Given the description of an element on the screen output the (x, y) to click on. 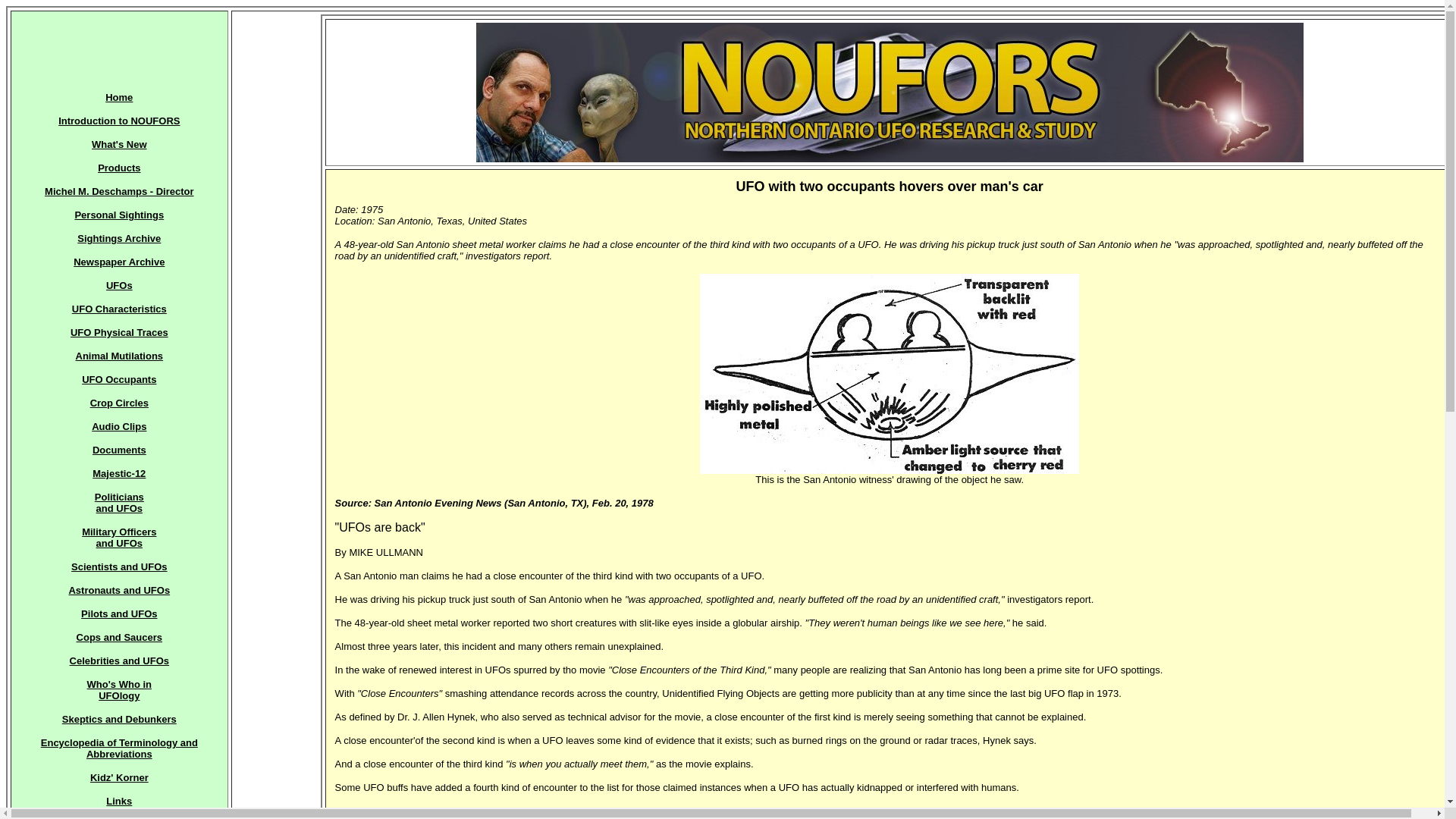
Links (119, 800)
Astronauts and UFOs (119, 590)
Skeptics and Debunkers (119, 718)
Personal Sightings (118, 214)
Home (118, 96)
Products (118, 167)
Cops and Saucers (119, 636)
Encyclopedia of Terminology and Abbreviations (119, 748)
Introduction to NOUFORS (118, 120)
Crop Circles (119, 402)
UFOs (119, 285)
Scientists and UFOs (119, 566)
Michel M. Deschamps - Director (119, 191)
UFO Physical Traces (118, 332)
Majestic-12 (119, 473)
